Given the description of an element on the screen output the (x, y) to click on. 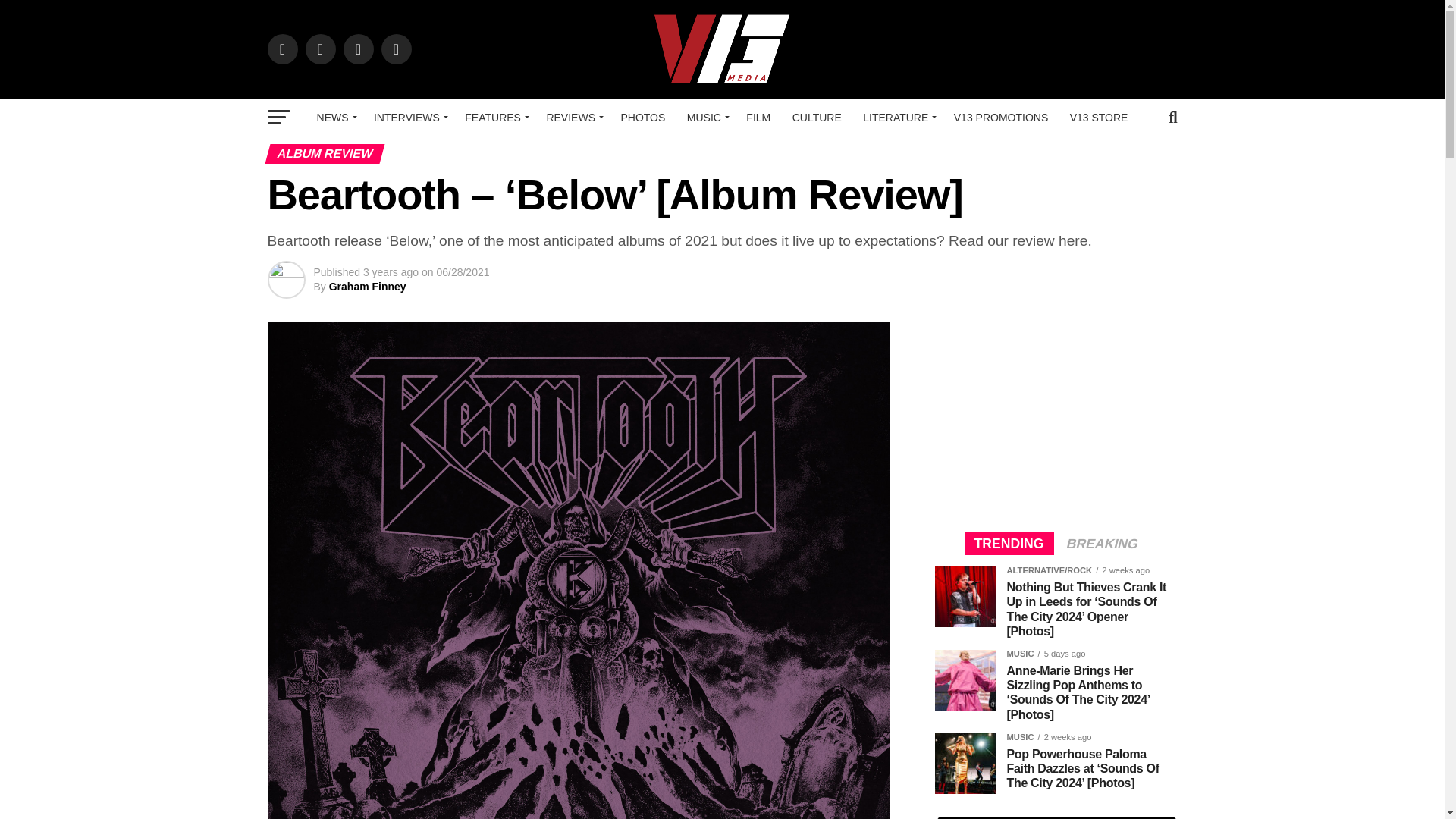
Posts by Graham Finney (367, 286)
